Given the description of an element on the screen output the (x, y) to click on. 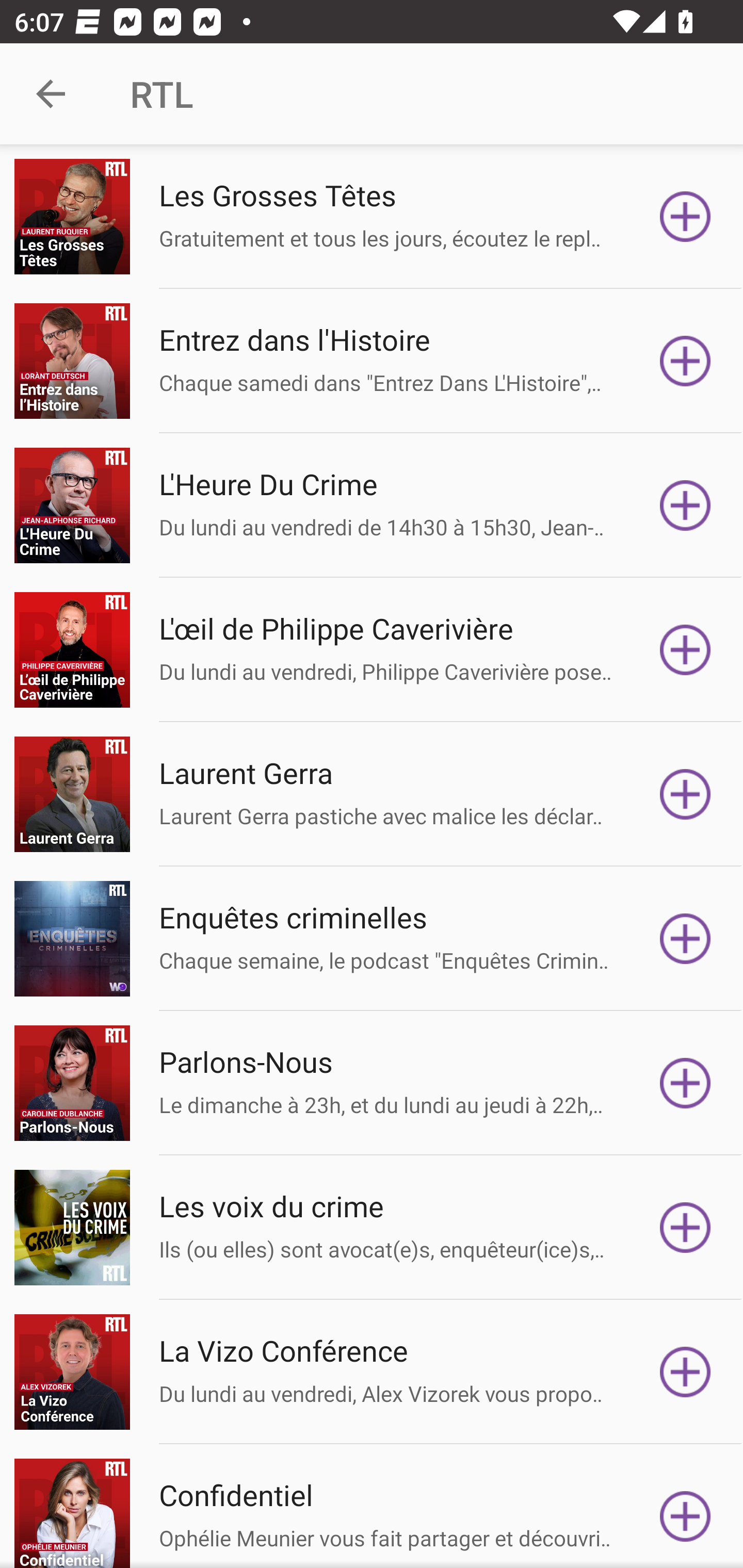
Navigate up (50, 93)
Subscribe (685, 216)
Subscribe (685, 360)
Subscribe (685, 505)
Subscribe (685, 649)
Subscribe (685, 793)
Subscribe (685, 939)
Subscribe (685, 1083)
Subscribe (685, 1227)
Subscribe (685, 1371)
Subscribe (685, 1513)
